Given the description of an element on the screen output the (x, y) to click on. 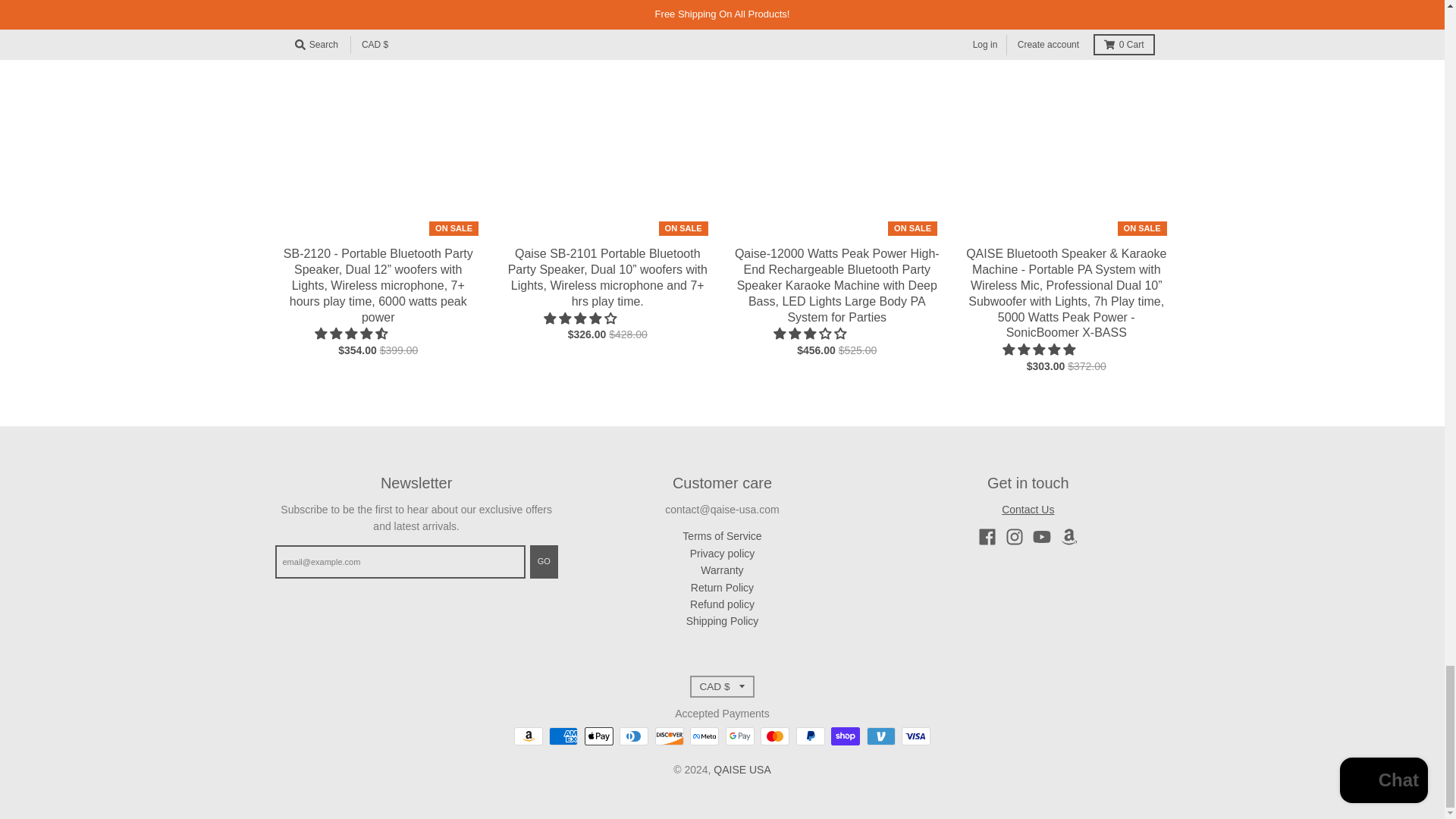
Amazon - QAISE USA (1068, 536)
Facebook - QAISE USA (986, 536)
YouTube - QAISE USA (1041, 536)
Instagram - QAISE USA (1014, 536)
